Given the description of an element on the screen output the (x, y) to click on. 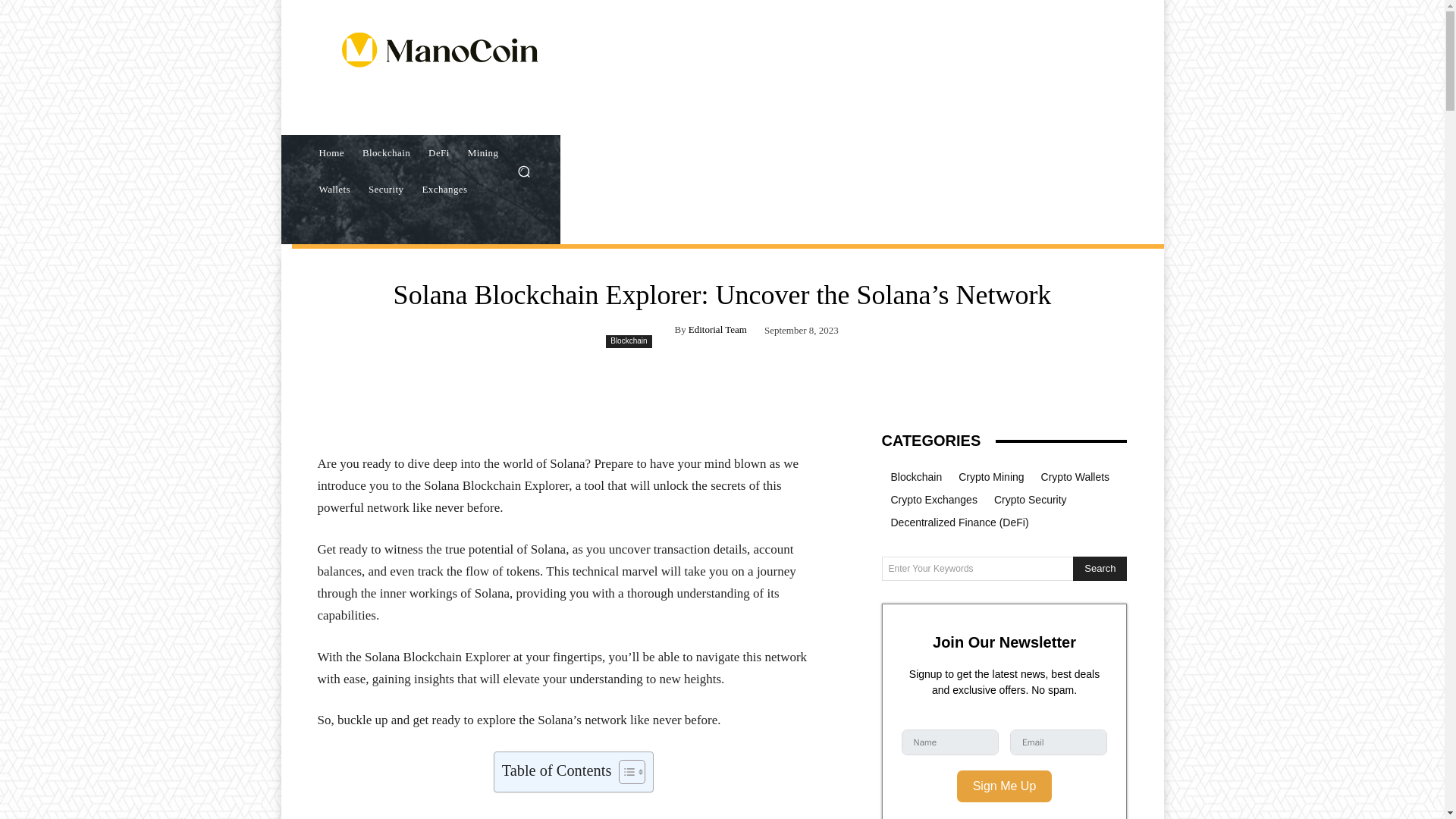
Blockchain (386, 153)
Home (330, 153)
Mining (483, 153)
Exchanges (444, 189)
Wallets (333, 189)
Editorial Team (717, 329)
Security (386, 189)
Blockchain (627, 341)
DeFi (438, 153)
